Given the description of an element on the screen output the (x, y) to click on. 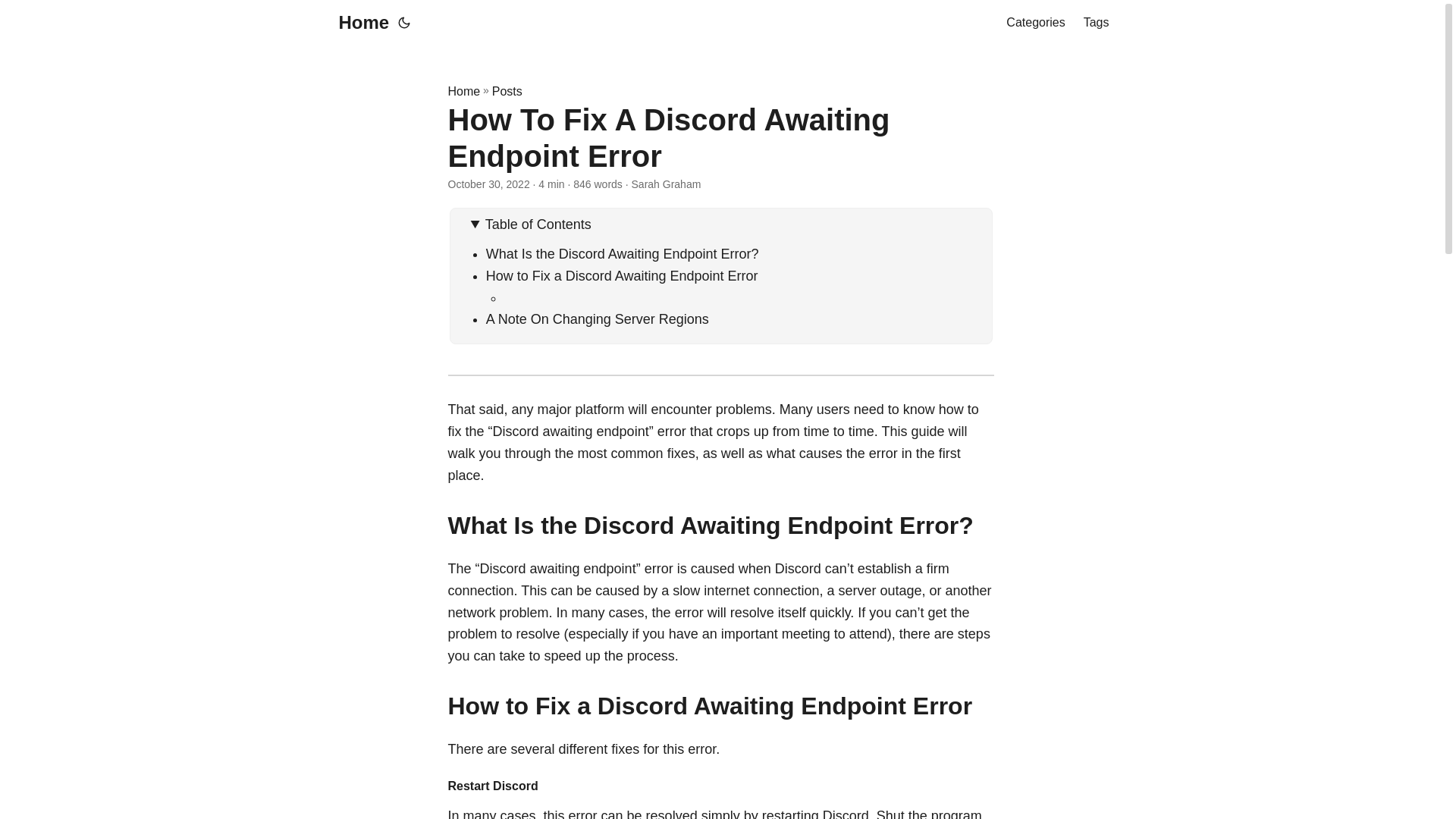
How to Fix a Discord Awaiting Endpoint Error (622, 275)
Categories (1035, 22)
What Is the Discord Awaiting Endpoint Error? (622, 253)
Tags (1096, 22)
Categories (1035, 22)
Tags (1096, 22)
Posts (507, 91)
Home (359, 22)
Home (463, 91)
A Note On Changing Server Regions (597, 319)
